Given the description of an element on the screen output the (x, y) to click on. 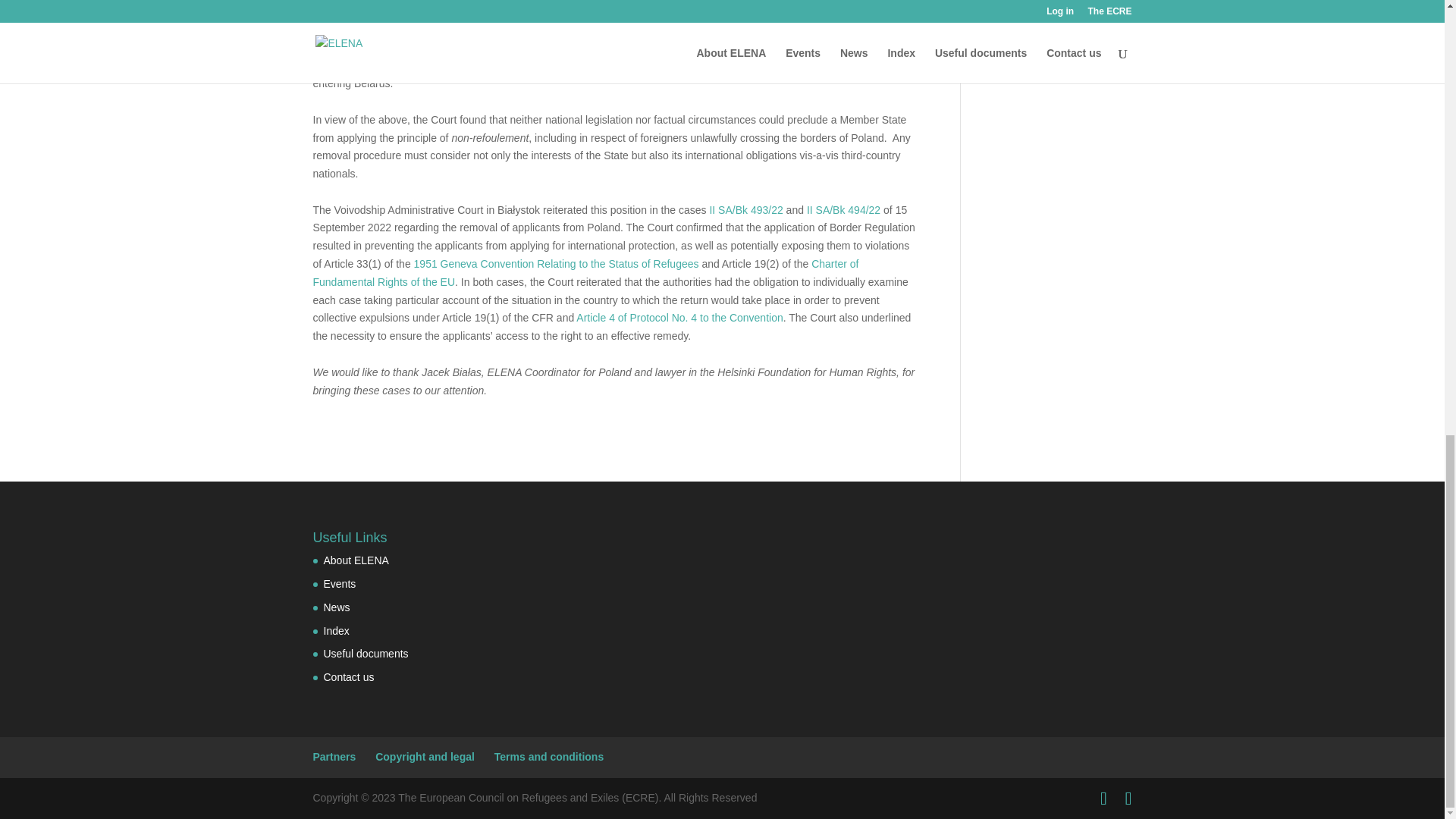
Index (336, 630)
Contact us (348, 676)
About ELENA (355, 560)
Article 4 of Protocol No. 4 to the Convention (679, 317)
1951 Geneva Convention Relating to the Status of Refugees (555, 263)
Terms and conditions (549, 756)
Useful documents (365, 653)
Partners (334, 756)
Events (339, 583)
Copyright and legal (424, 756)
